Given the description of an element on the screen output the (x, y) to click on. 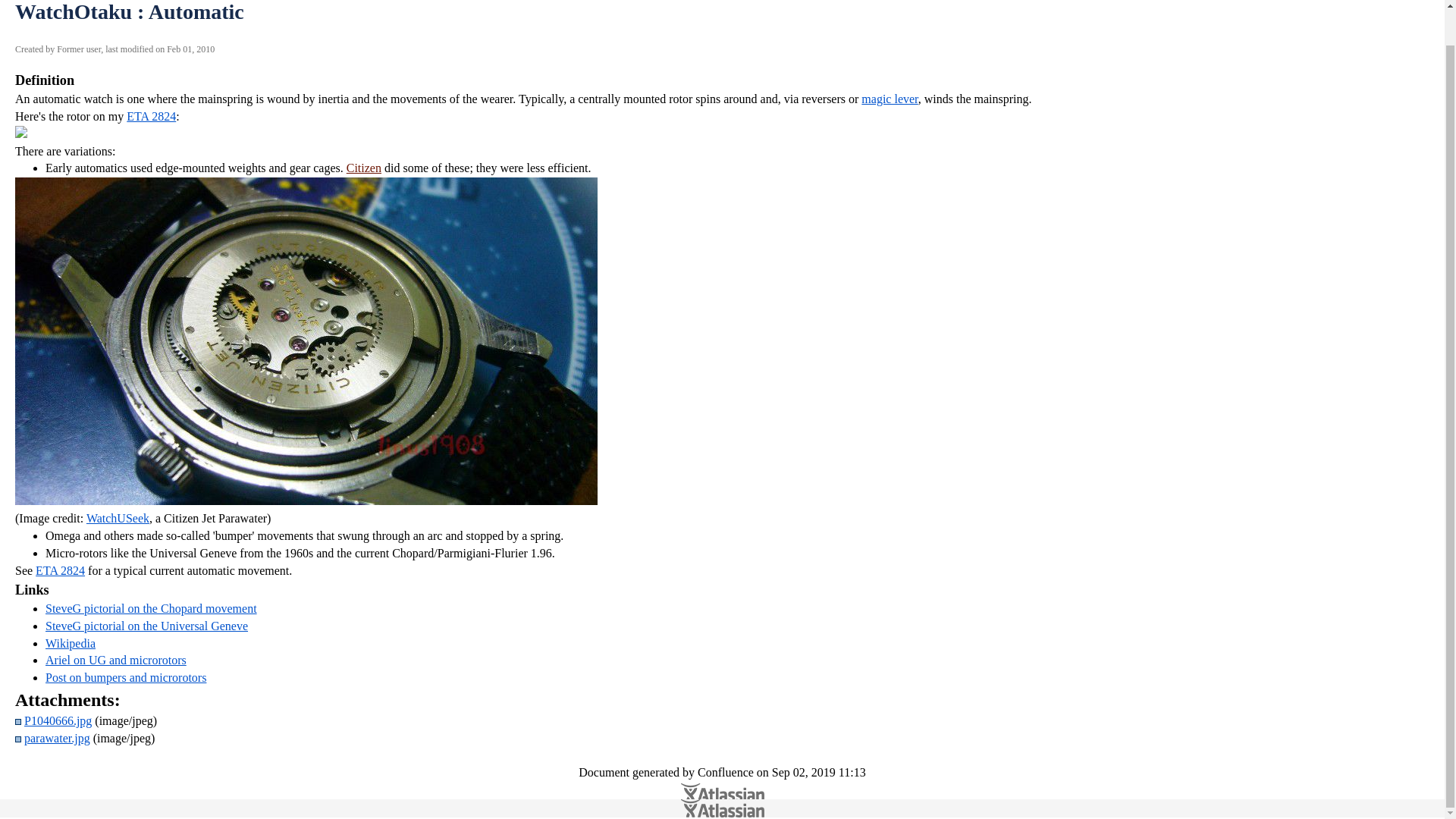
parawater.jpg (57, 738)
SteveG pictorial on the Universal Geneve (146, 625)
ETA 2824 (151, 115)
ETA 2824 (59, 570)
Wikipedia (70, 643)
Citizen (363, 167)
Ariel on UG and microrotors (115, 659)
SteveG pictorial on the Chopard movement (151, 608)
Atlassian (722, 808)
WatchUSeek (117, 517)
